Given the description of an element on the screen output the (x, y) to click on. 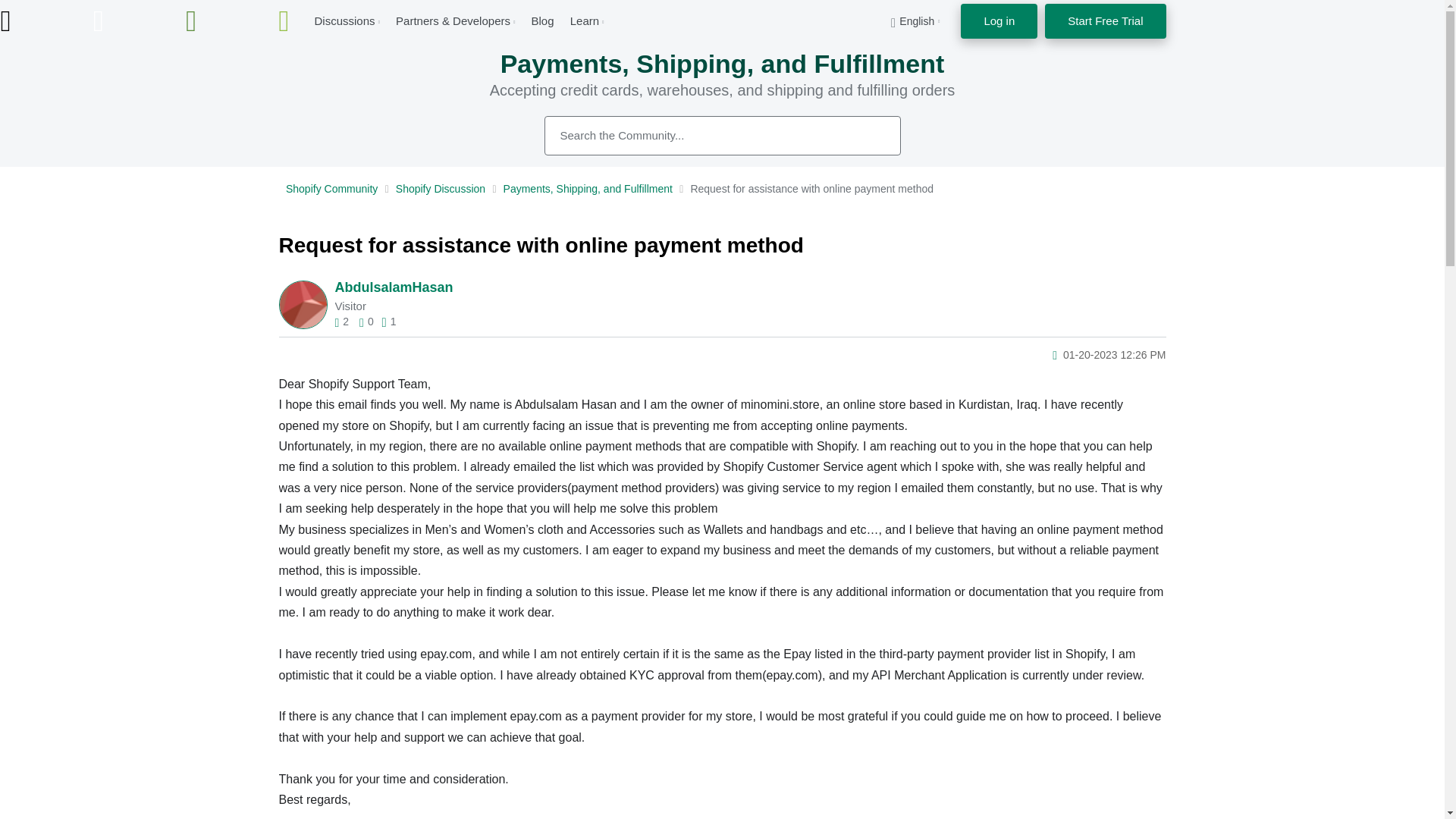
Search (872, 135)
Search (872, 135)
Discussions (344, 20)
Search (722, 135)
